Given the description of an element on the screen output the (x, y) to click on. 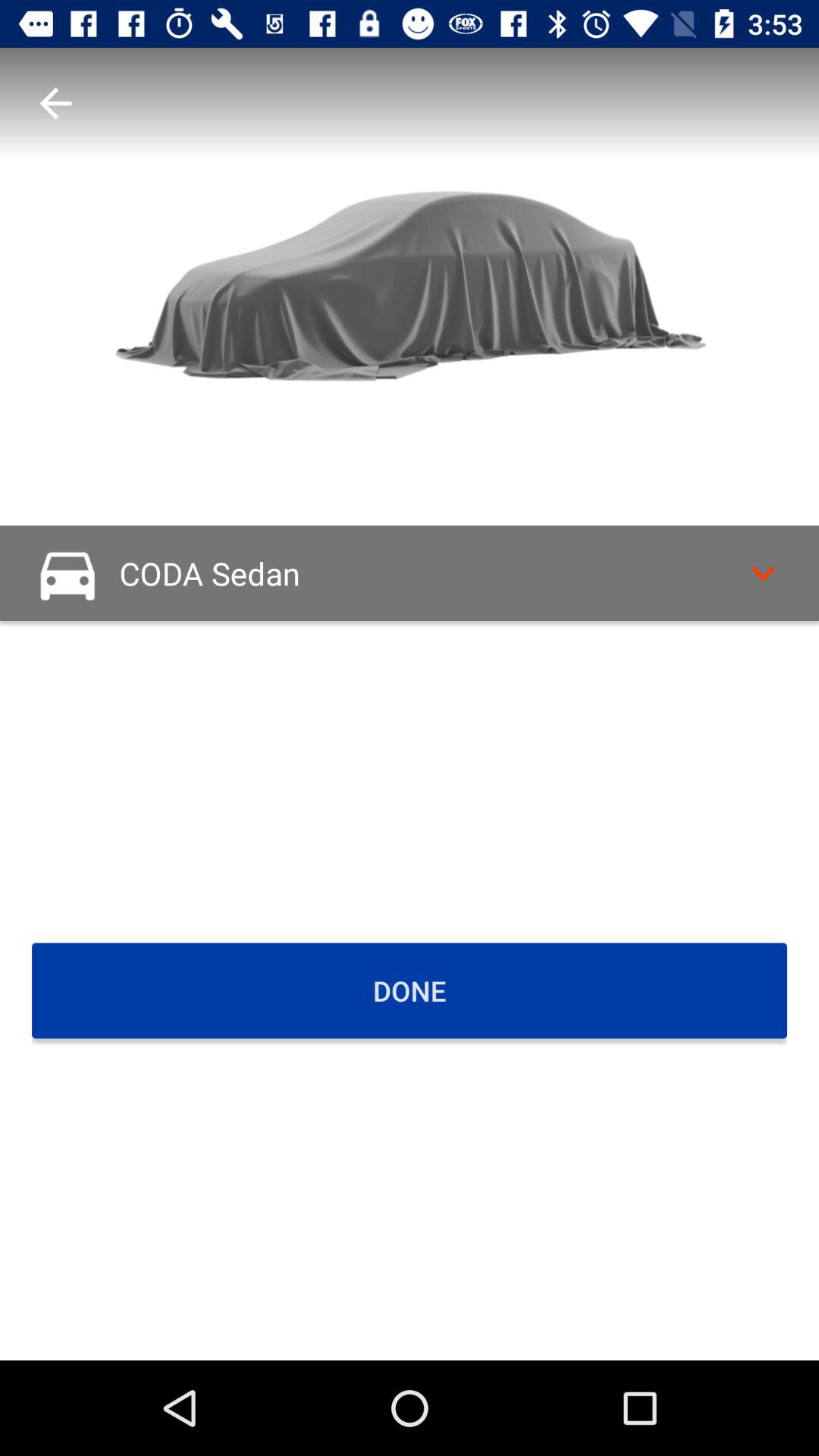
select the done (409, 990)
